Given the description of an element on the screen output the (x, y) to click on. 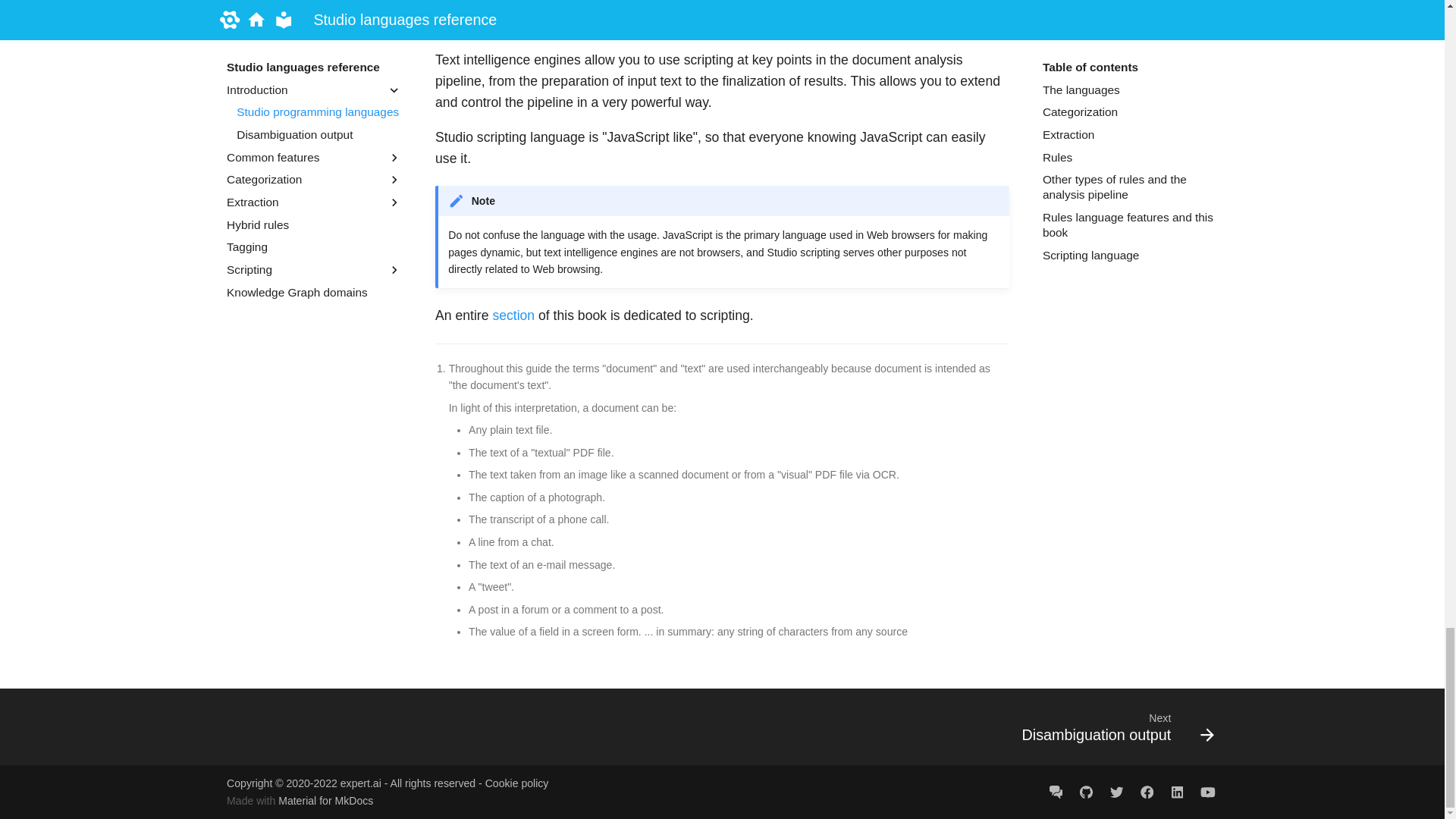
expert.ai on GitHub (1086, 791)
expert.ai on LinkedIn (1177, 791)
expert.ai Community (1055, 791)
expert.ai on facebook (1147, 791)
expert.ai on Twitter (1116, 791)
expert.ai YouTube channel (1207, 791)
